Given the description of an element on the screen output the (x, y) to click on. 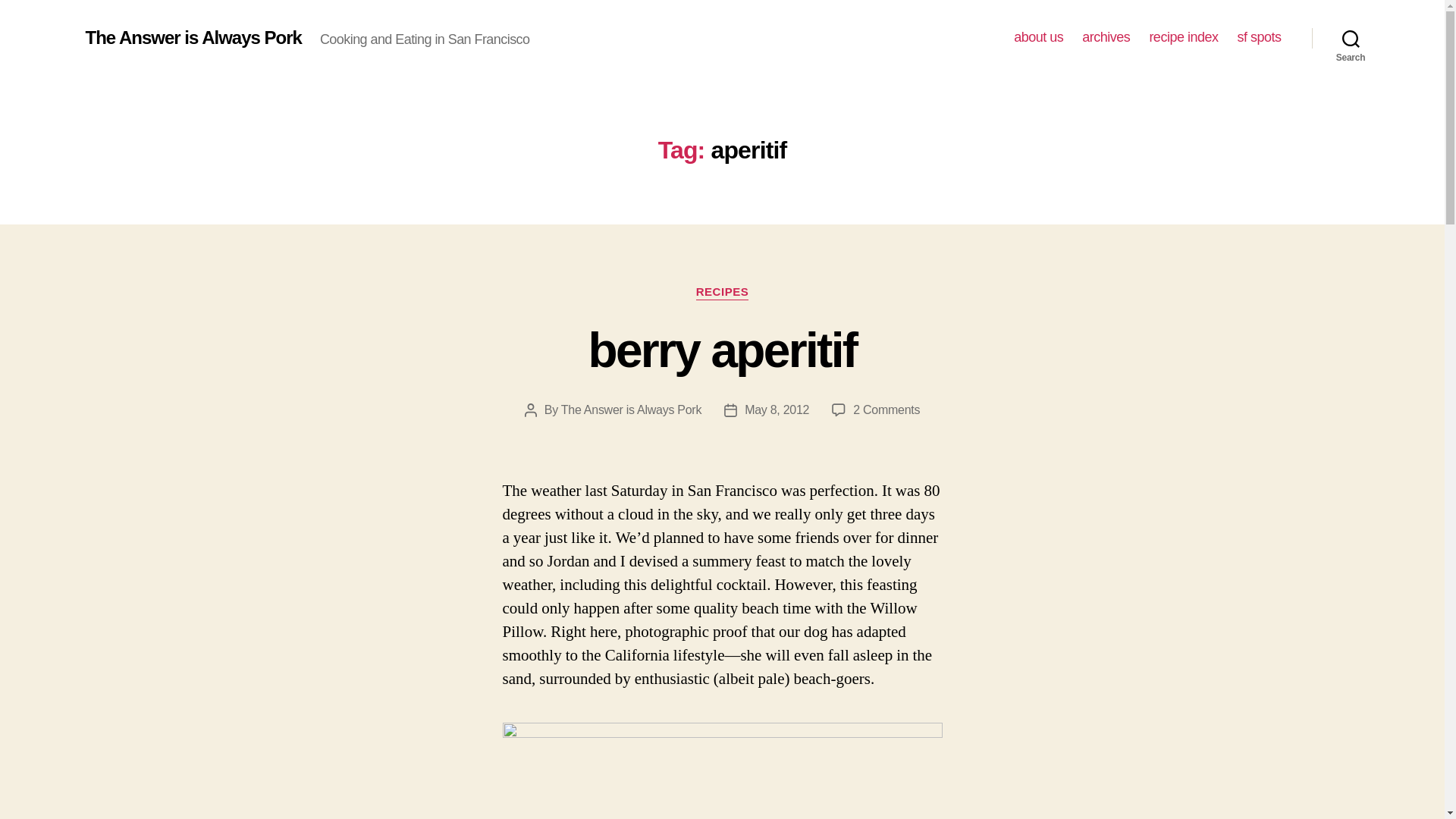
berry aperitif (722, 349)
archives (1105, 37)
May 8, 2012 (776, 409)
The Answer is Always Pork (630, 409)
RECIPES (722, 292)
sf spots (1258, 37)
Search (1350, 37)
about us (886, 409)
recipe index (1037, 37)
The Answer is Always Pork (1182, 37)
